Given the description of an element on the screen output the (x, y) to click on. 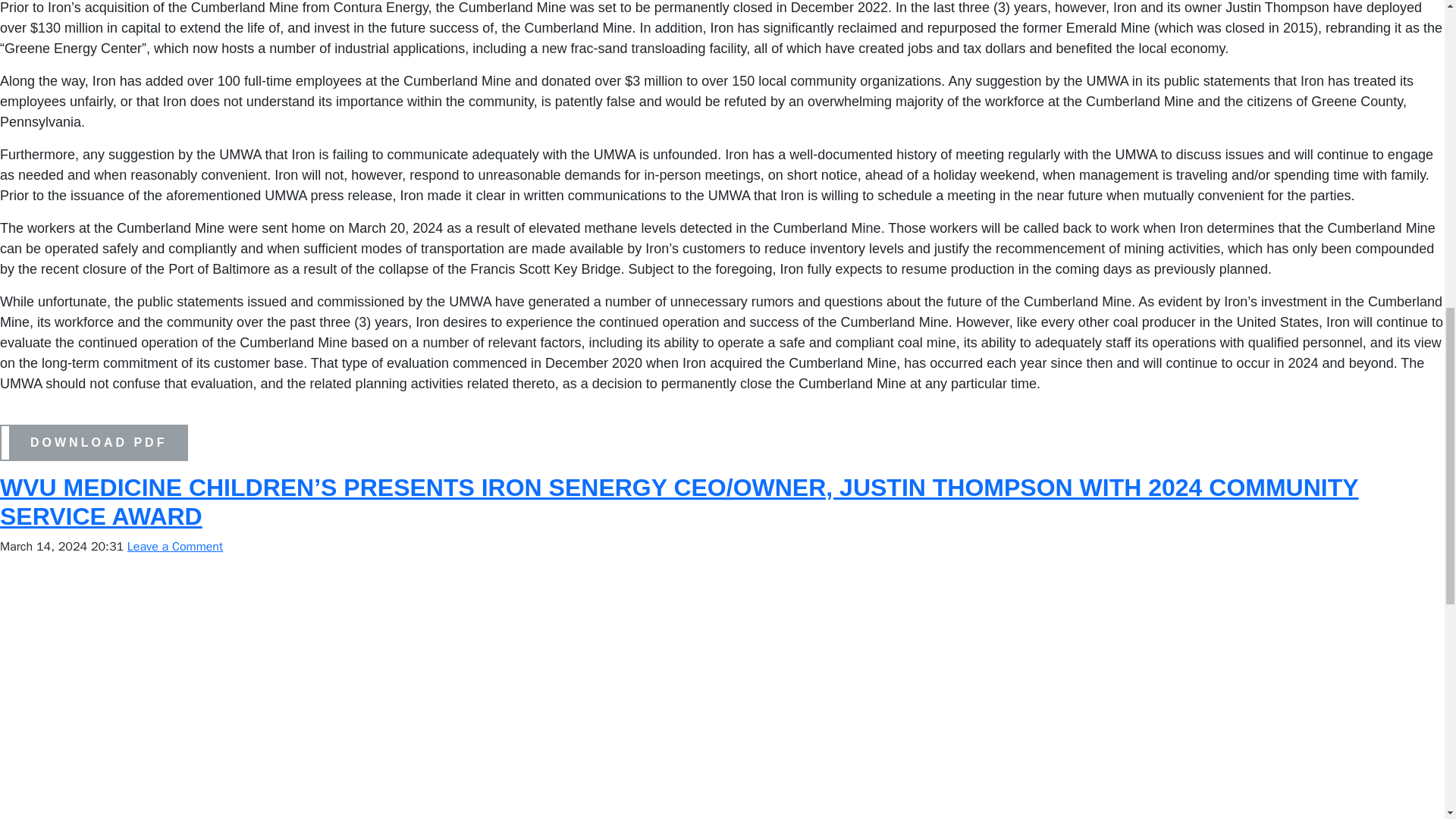
Leave a Comment (175, 546)
DOWNLOAD PDF (93, 441)
DOWNLOAD PDF (97, 443)
